Given the description of an element on the screen output the (x, y) to click on. 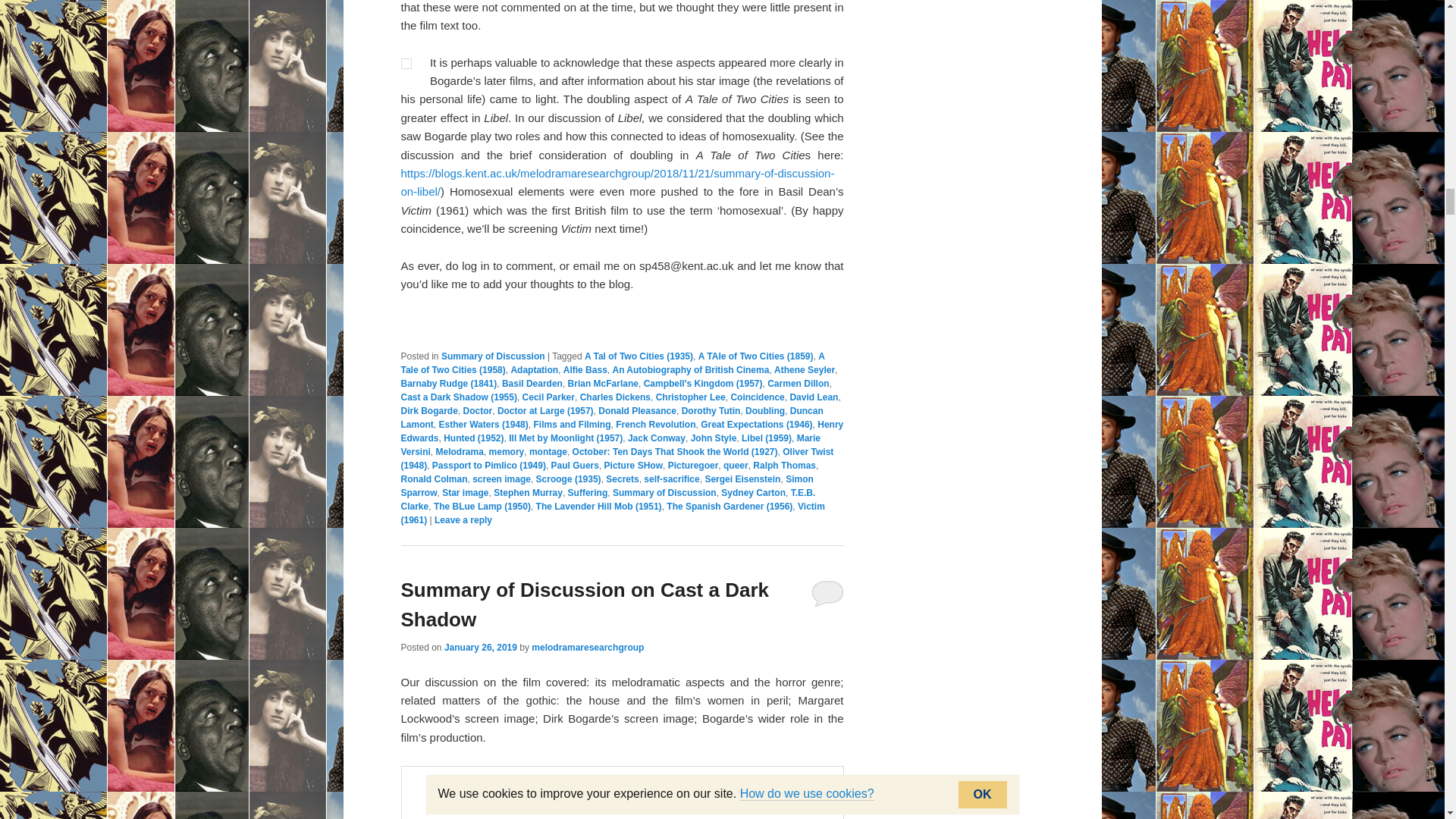
9:34 am (480, 647)
View all posts by melodramaresearchgroup (587, 647)
